Given the description of an element on the screen output the (x, y) to click on. 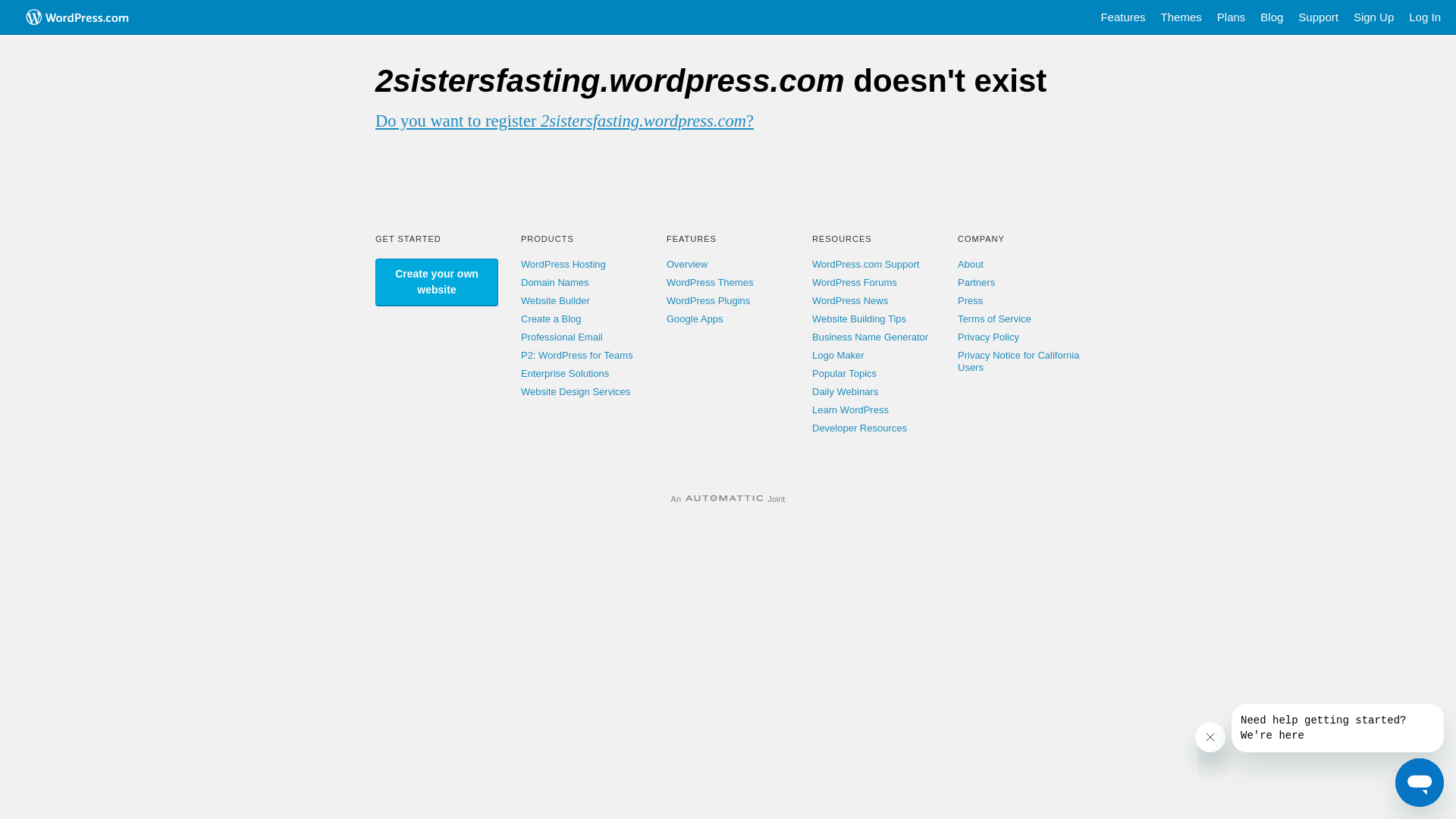
Learn WordPress Element type: text (850, 409)
Terms of Service Element type: text (994, 318)
Website Design Services Element type: text (575, 391)
Partners Element type: text (975, 282)
Domain Names Element type: text (554, 282)
WordPress Themes Element type: text (709, 282)
Close message Element type: hover (1210, 736)
Do you want to register 2sistersfasting.wordpress.com? Element type: text (564, 120)
Log In Element type: text (1424, 17)
Button to launch messaging window Element type: hover (1419, 782)
Press Element type: text (969, 300)
Logo Maker Element type: text (838, 354)
P2: WordPress for Teams Element type: text (576, 354)
WordPress Hosting Element type: text (562, 263)
Support Element type: text (1318, 17)
Professional Email Element type: text (561, 336)
Privacy Policy Element type: text (988, 336)
Popular Topics Element type: text (844, 373)
Daily Webinars Element type: text (845, 391)
Create a Blog Element type: text (550, 318)
Plans Element type: text (1231, 17)
Features Element type: text (1122, 17)
Business Name Generator Element type: text (870, 336)
Automattic Element type: text (723, 498)
Website Building Tips Element type: text (859, 318)
Google Apps Element type: text (694, 318)
Website Builder Element type: text (554, 300)
WordPress News Element type: text (850, 300)
WordPress Plugins Element type: text (707, 300)
Developer Resources Element type: text (859, 427)
About Element type: text (970, 263)
Sign Up Element type: text (1373, 17)
WordPress Forums Element type: text (854, 282)
Overview Element type: text (686, 263)
Themes Element type: text (1181, 17)
Enterprise Solutions Element type: text (564, 373)
Message from company Element type: hover (1337, 727)
WordPress.com Support Element type: text (865, 263)
Create your own website Element type: text (436, 282)
Blog Element type: text (1271, 17)
Privacy Notice for California Users Element type: text (1018, 361)
